Given the description of an element on the screen output the (x, y) to click on. 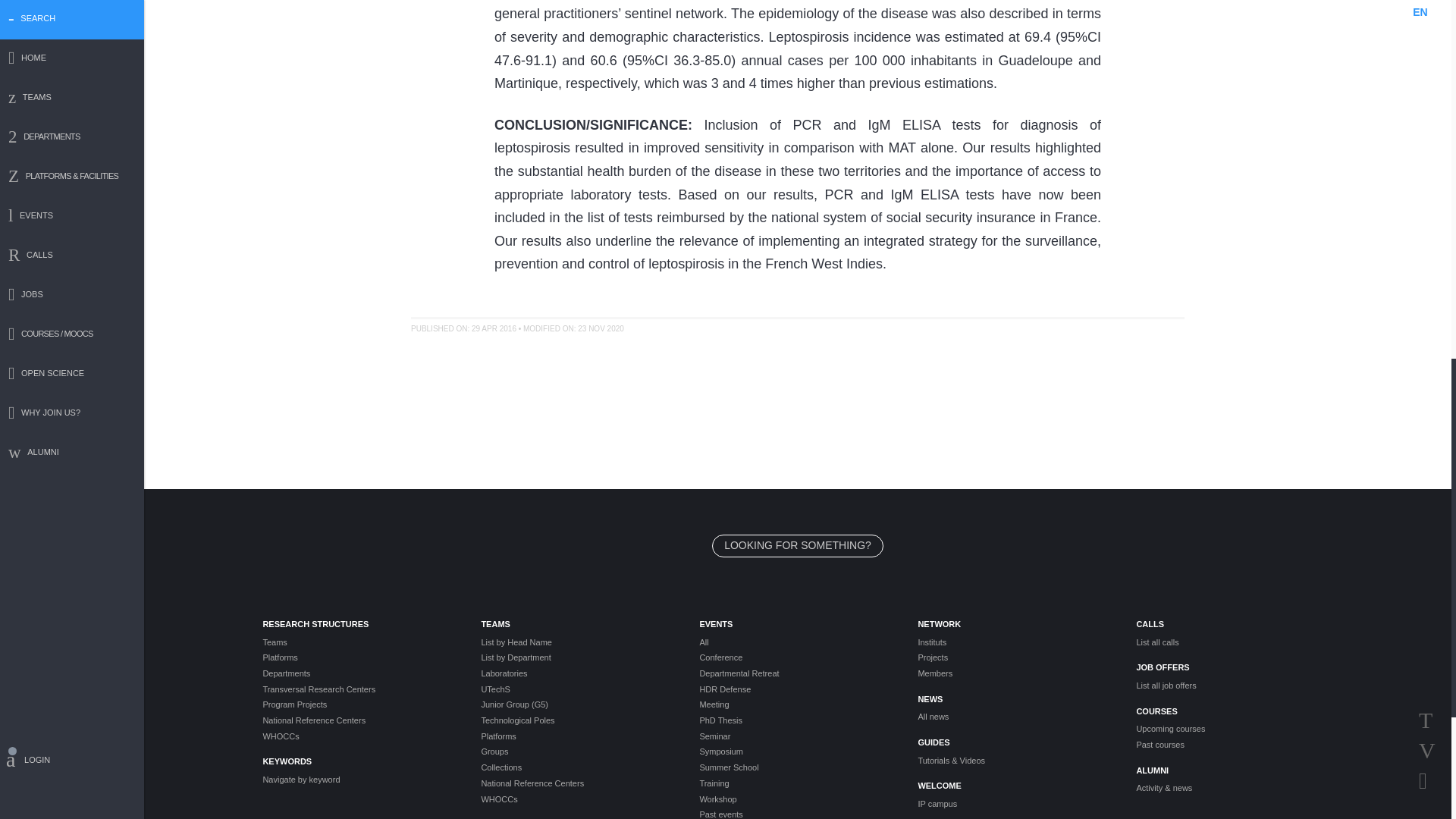
Platforms (360, 657)
Teams (360, 642)
